Given the description of an element on the screen output the (x, y) to click on. 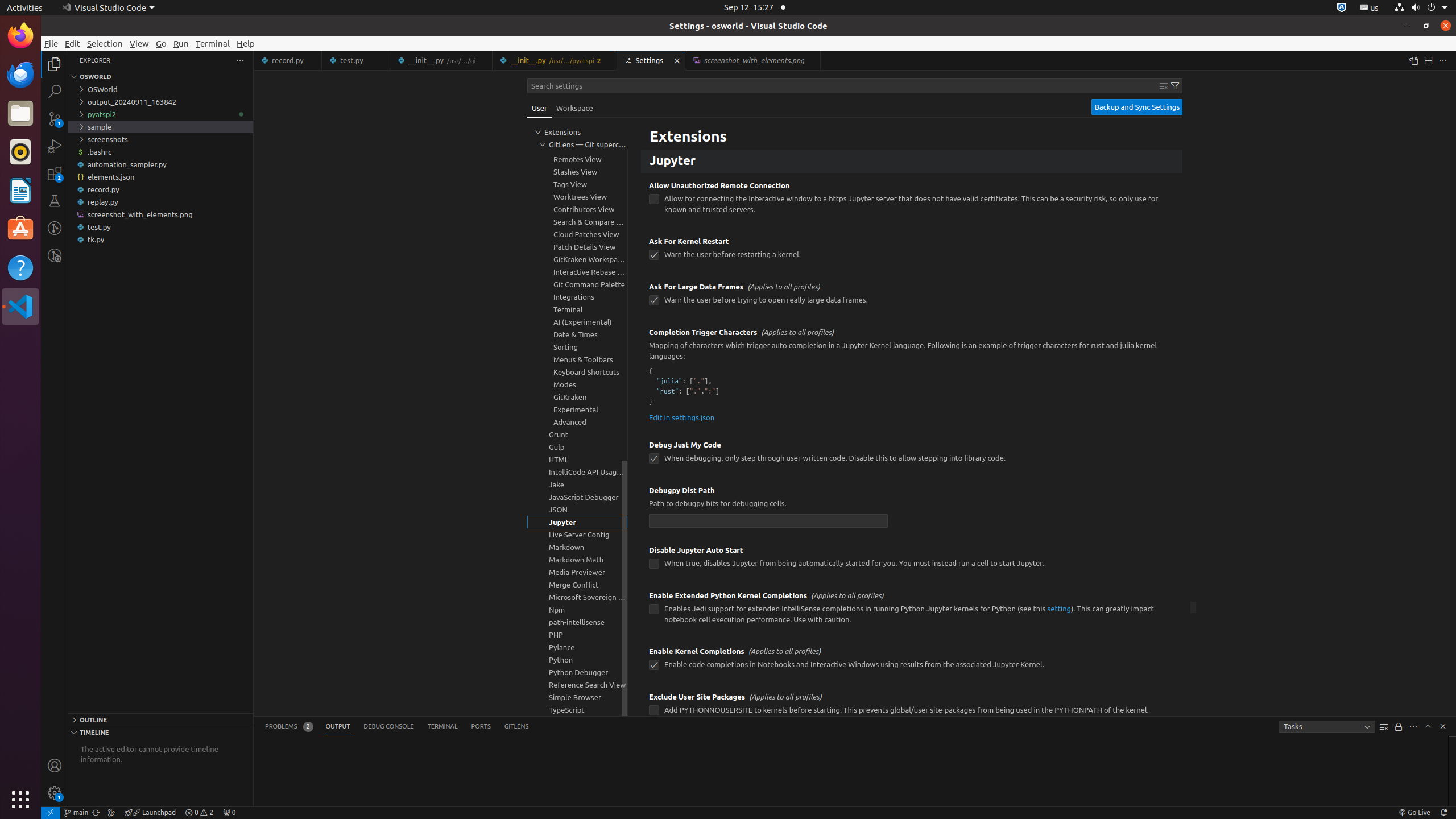
Search (Ctrl+Shift+F) Element type: page-tab (54, 91)
Menus & Toolbars, group Element type: tree-item (577, 359)
Accounts Element type: push-button (54, 765)
Jake, group Element type: tree-item (577, 484)
Line History View, group Element type: tree-item (577, 133)
